Given the description of an element on the screen output the (x, y) to click on. 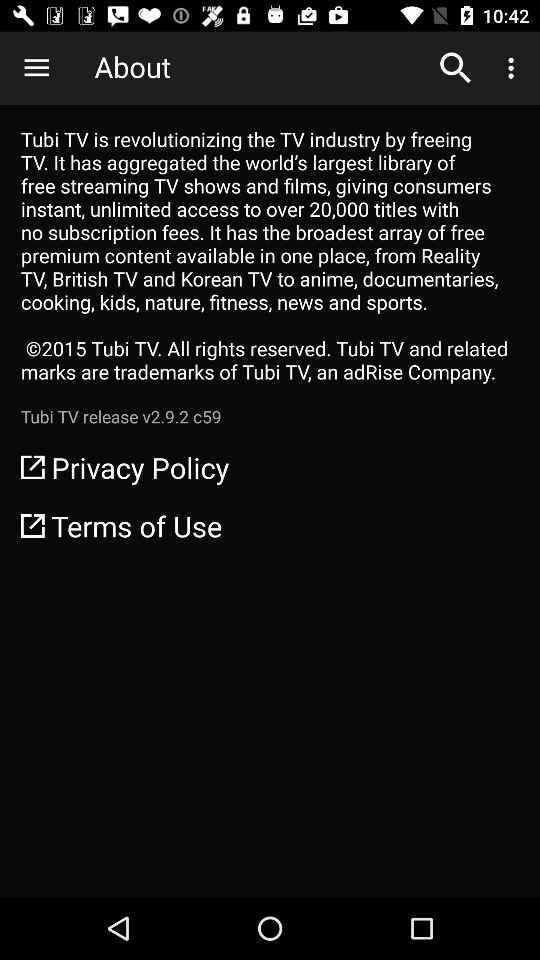
open the icon above the terms of use icon (270, 467)
